Given the description of an element on the screen output the (x, y) to click on. 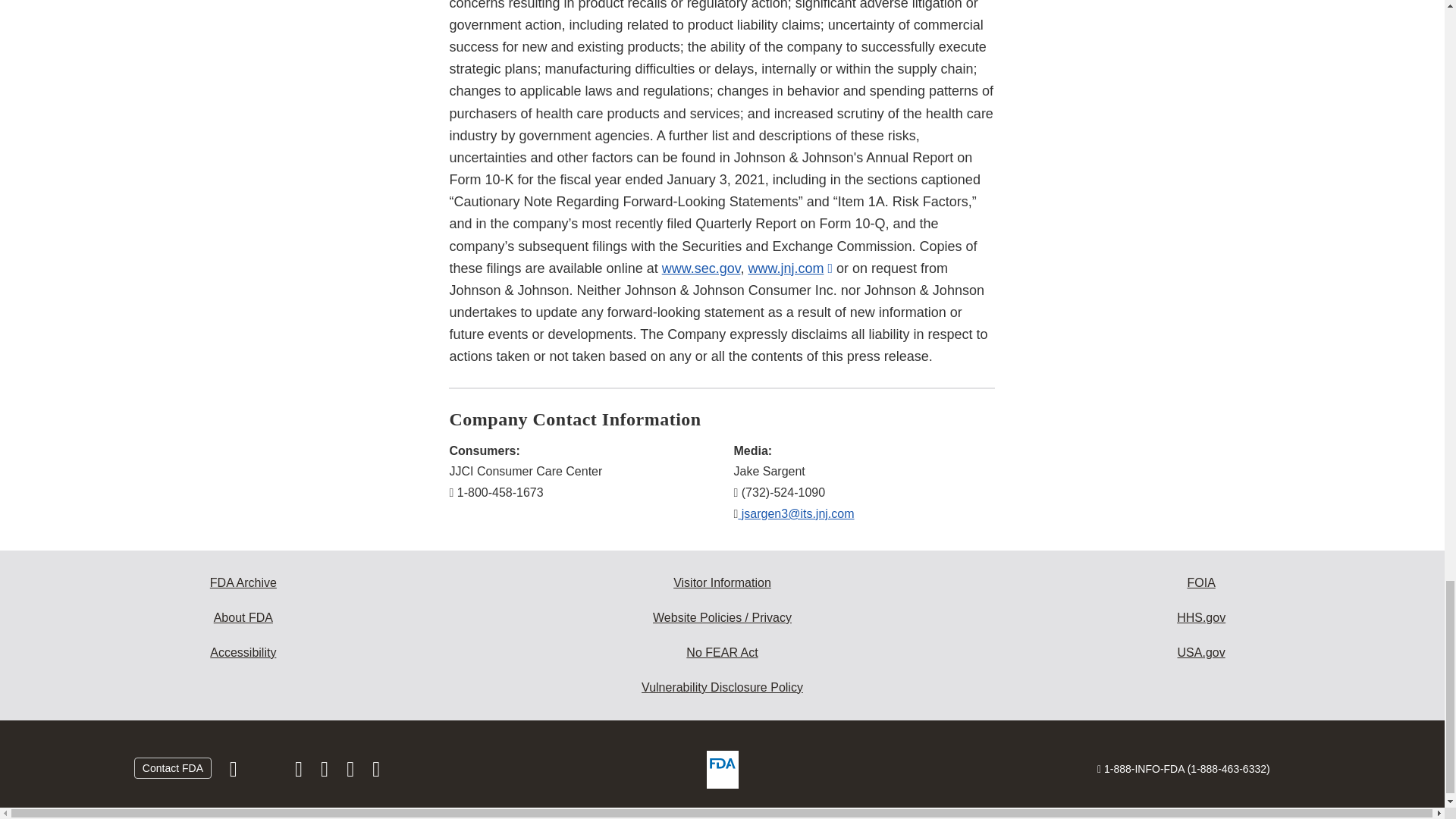
Health and Human Services (1200, 617)
Freedom of Information Act (1200, 582)
Subscribe to FDA RSS feeds (376, 772)
View FDA videos on YouTube (352, 772)
Follow FDA on LinkedIn (326, 772)
Follow FDA on Facebook (234, 772)
Follow FDA on X (266, 772)
Follow FDA on Instagram (299, 772)
